Given the description of an element on the screen output the (x, y) to click on. 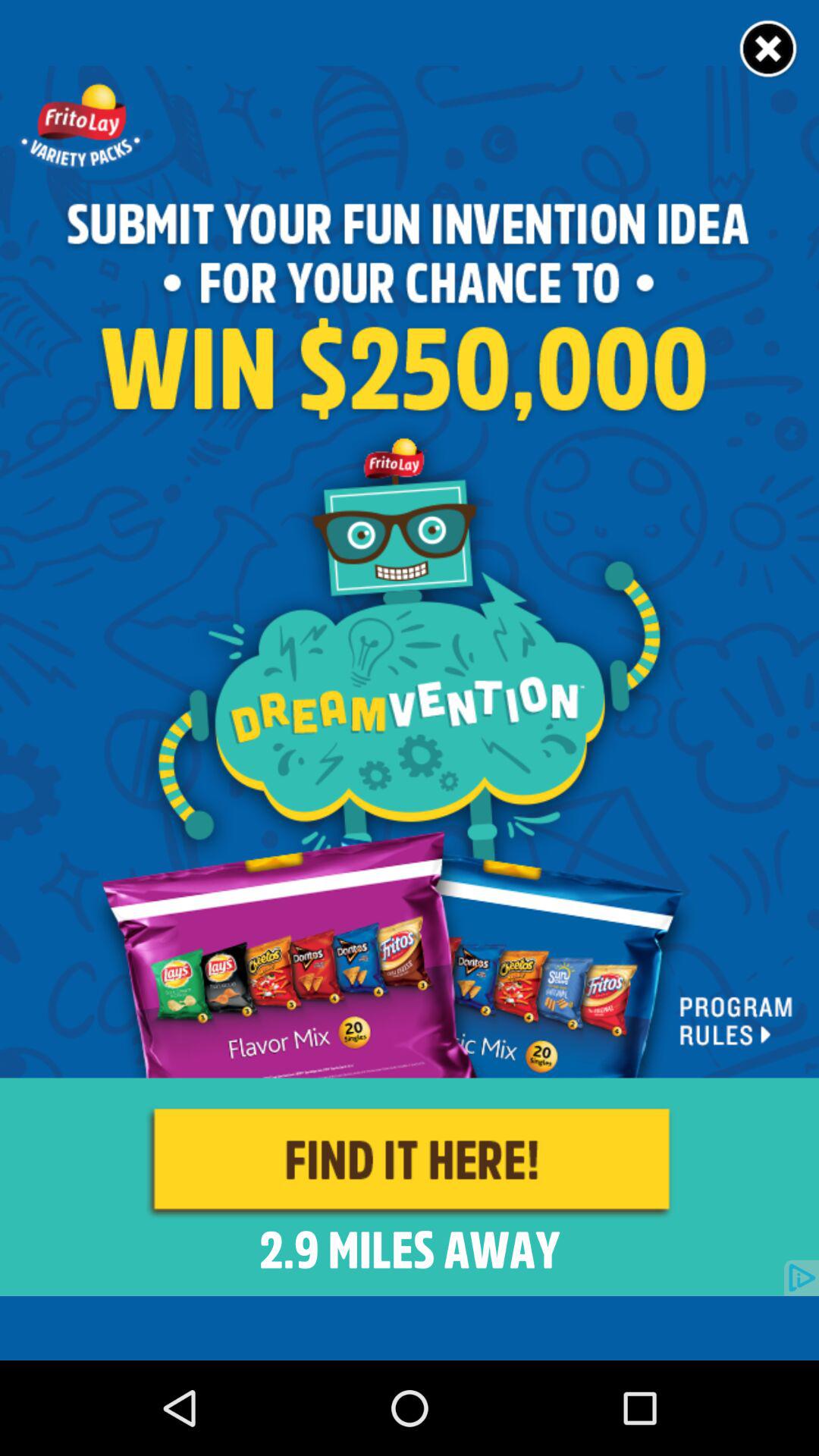
go to close (769, 49)
